Given the description of an element on the screen output the (x, y) to click on. 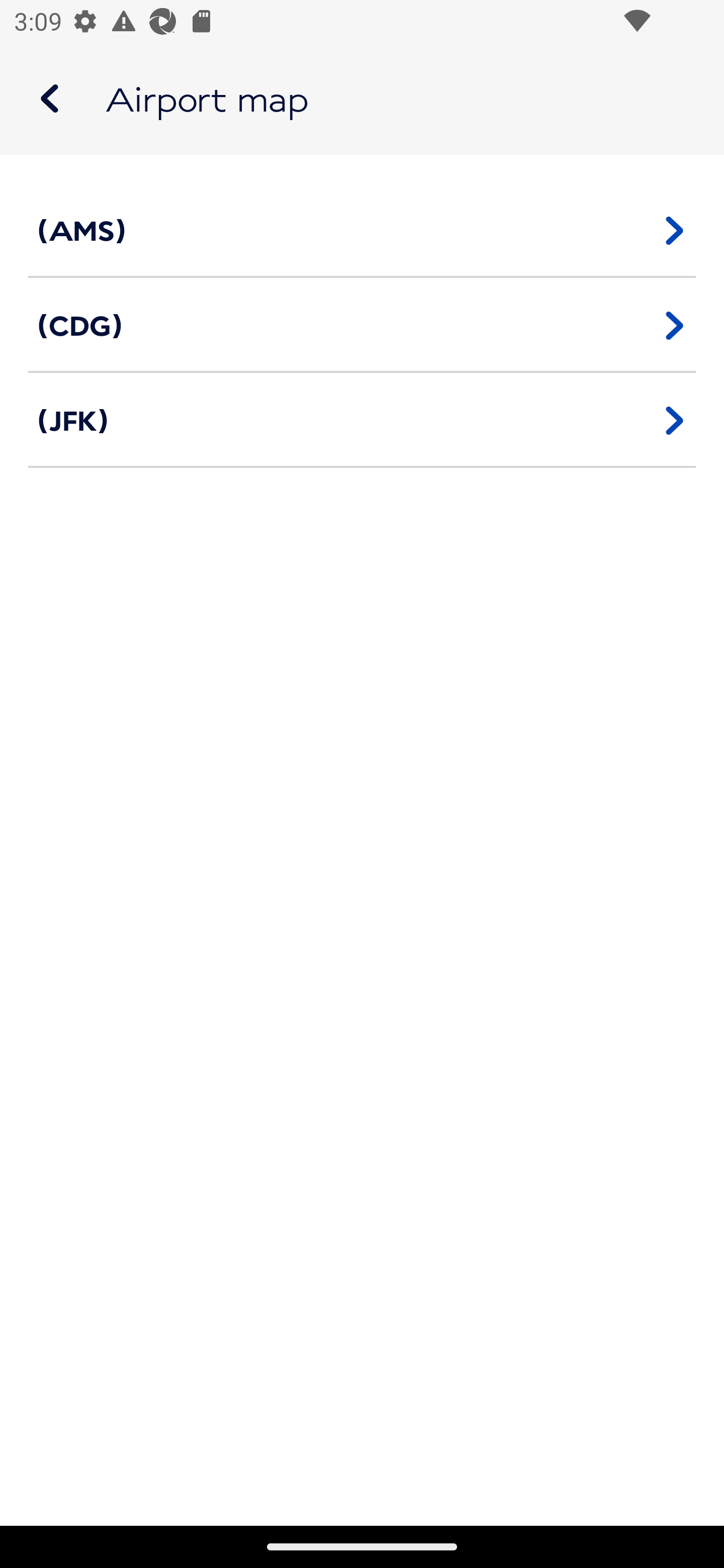
Airport map (362, 98)
 (AMS) (361, 230)
 (CDG) (361, 325)
 (JFK) (361, 420)
